Given the description of an element on the screen output the (x, y) to click on. 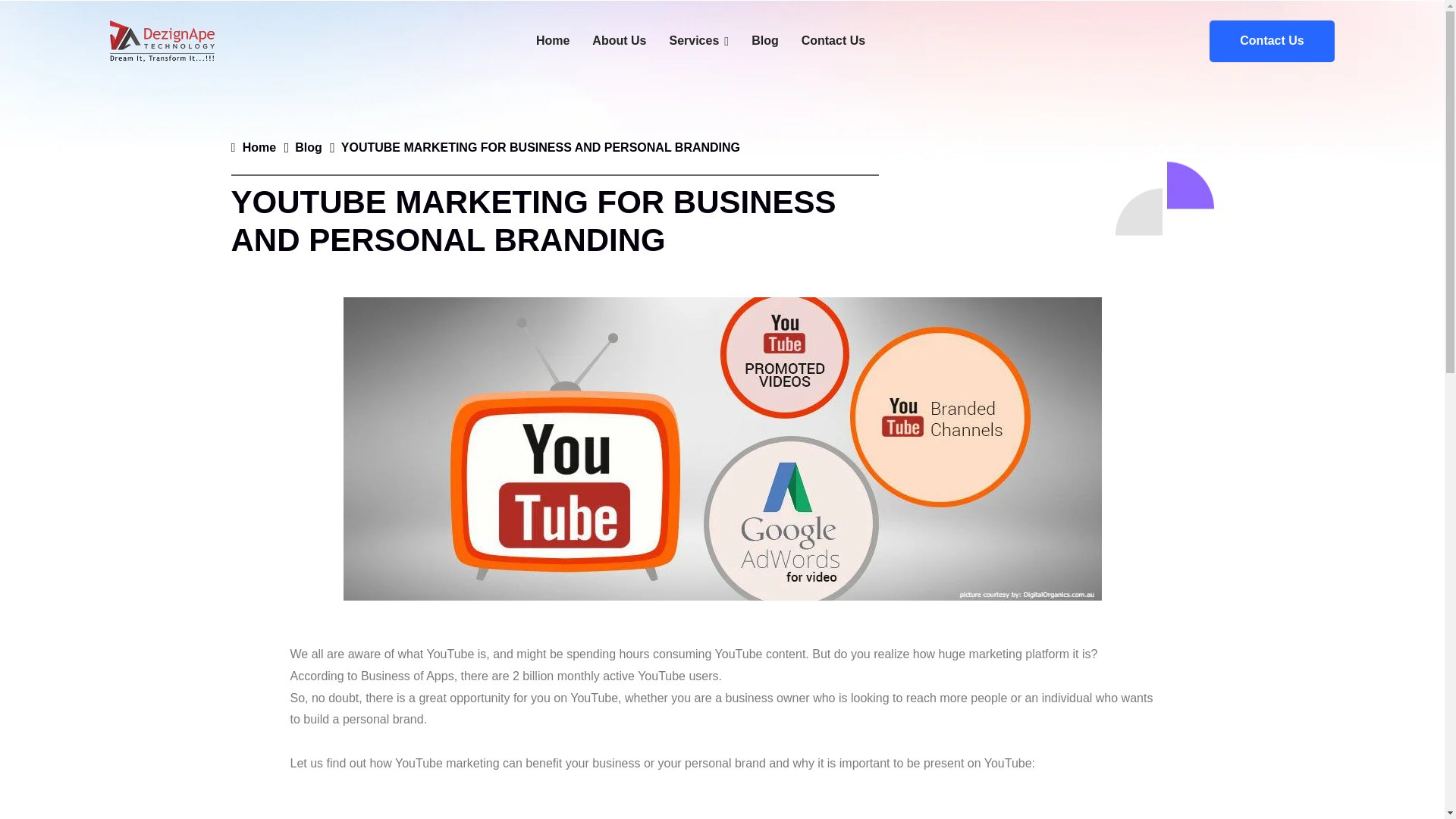
Home (552, 41)
About Us (619, 41)
Services (698, 41)
Contact Us (1271, 41)
About Us (619, 41)
Contact Us (833, 41)
Home (253, 146)
Services (698, 41)
Blog (764, 41)
Home (552, 41)
Blog (308, 146)
